Given the description of an element on the screen output the (x, y) to click on. 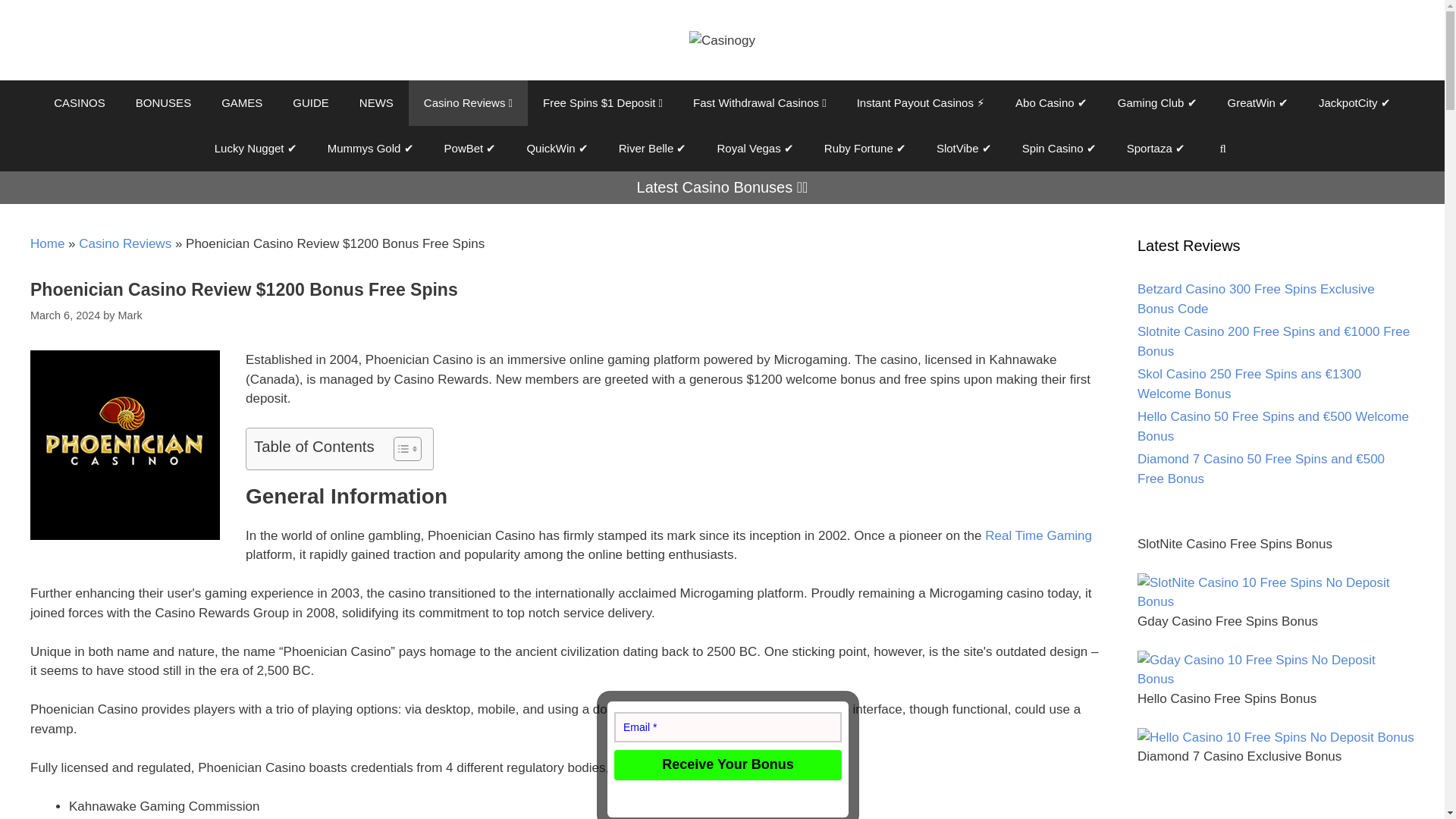
GAMES (242, 103)
View all posts by Mark (129, 315)
CASINOS (79, 103)
BONUSES (163, 103)
Receive Your Bonus (727, 765)
GUIDE (310, 103)
NEWS (376, 103)
